Given the description of an element on the screen output the (x, y) to click on. 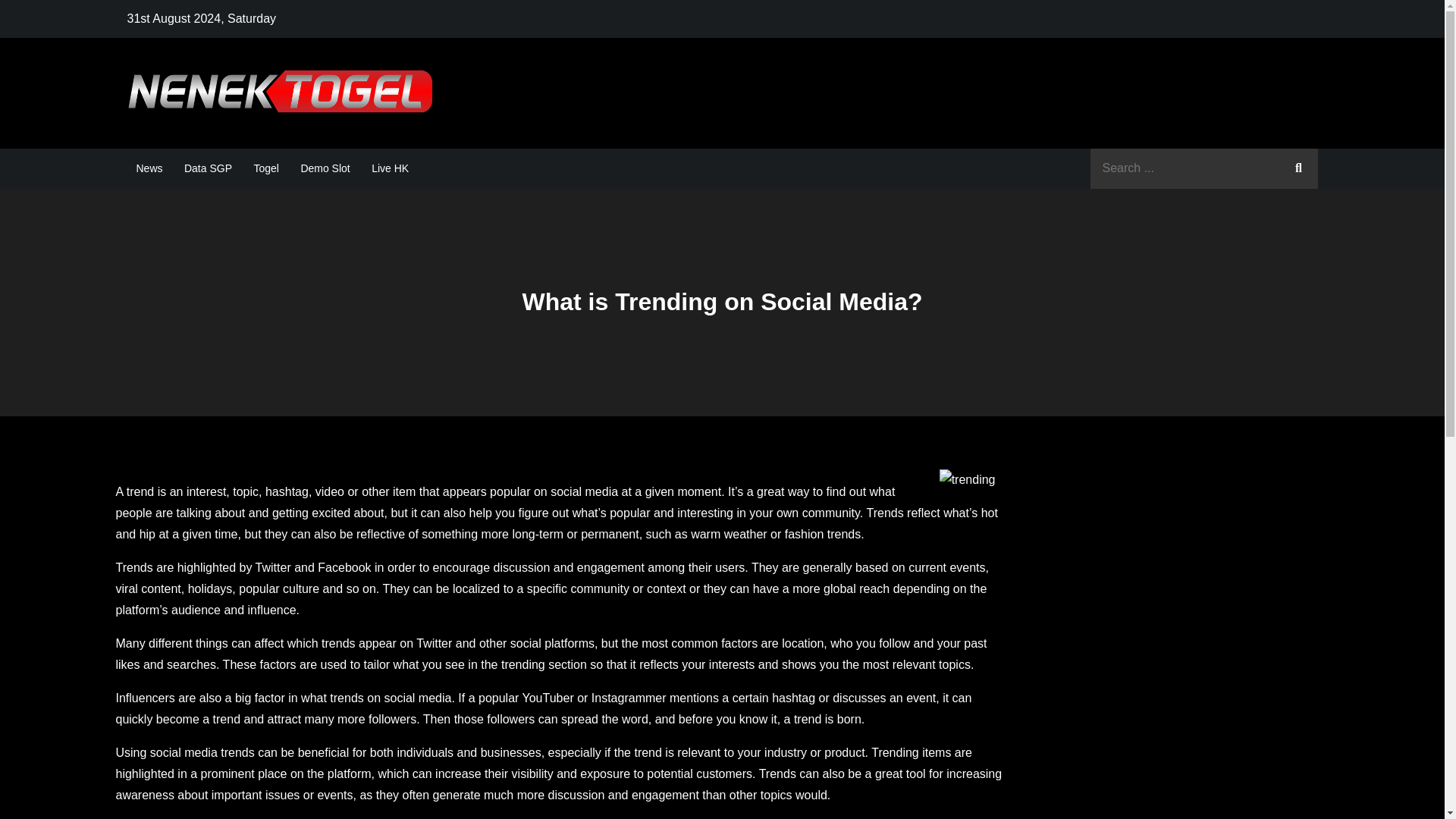
Search for: (1203, 168)
Pragmatic, Pragmatic Play, Agen Slot Pragmatic 2021 (758, 108)
Demo Slot (324, 168)
News (149, 168)
Search (1298, 168)
Data SGP (207, 168)
Togel (265, 168)
Live HK (389, 168)
